Given the description of an element on the screen output the (x, y) to click on. 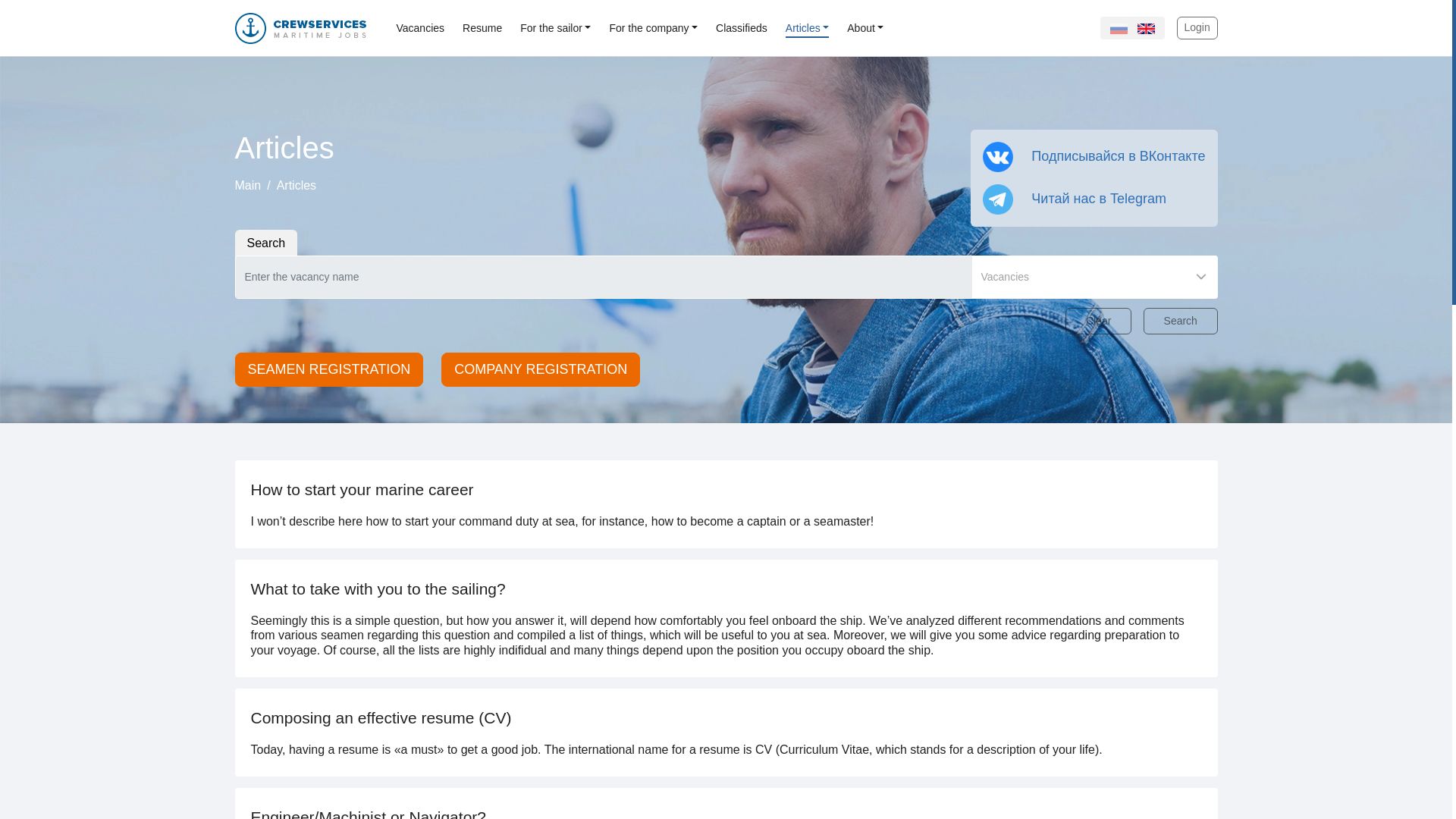
Login (1196, 27)
For the sailor (555, 28)
Articles (807, 28)
Vacancies (420, 28)
CrewServices (300, 27)
Resume (482, 28)
About (865, 28)
For the company (652, 28)
For the company (652, 28)
Vacancies (420, 28)
